Given the description of an element on the screen output the (x, y) to click on. 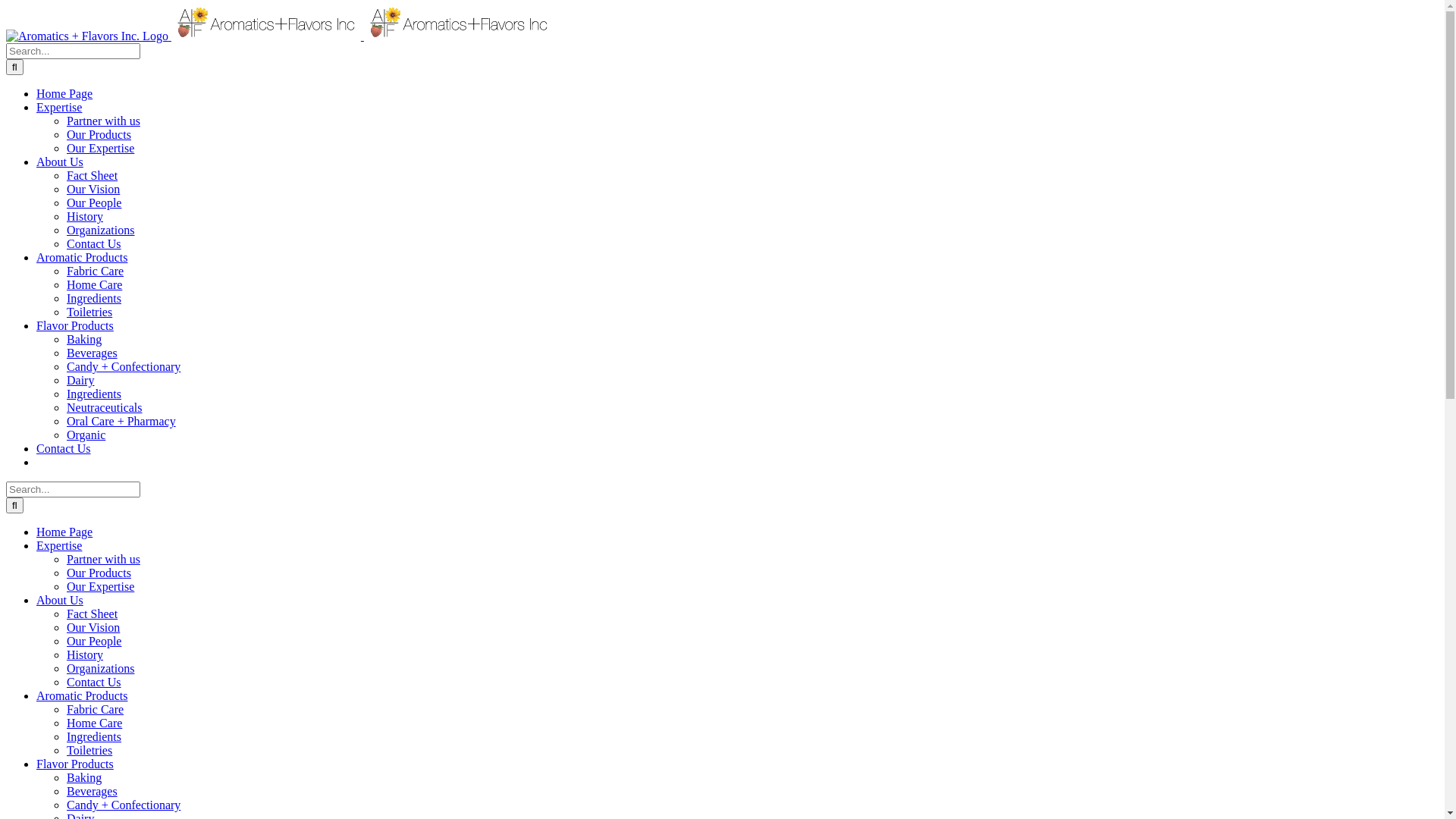
Candy + Confectionary Element type: text (123, 804)
About Us Element type: text (59, 599)
Our Expertise Element type: text (100, 147)
Flavor Products Element type: text (74, 763)
Home Page Element type: text (64, 531)
Expertise Element type: text (58, 545)
Home Page Element type: text (64, 93)
Our Vision Element type: text (92, 188)
Expertise Element type: text (58, 106)
Contact Us Element type: text (93, 681)
Organic Element type: text (85, 434)
Neutraceuticals Element type: text (104, 407)
Candy + Confectionary Element type: text (123, 366)
Our Vision Element type: text (92, 627)
Toiletries Element type: text (89, 311)
Toiletries Element type: text (89, 749)
Baking Element type: text (83, 338)
Partner with us Element type: text (103, 558)
Beverages Element type: text (91, 790)
Fabric Care Element type: text (94, 270)
Contact Us Element type: text (93, 243)
Our Expertise Element type: text (100, 586)
Aromatic Products Element type: text (81, 695)
Our People Element type: text (93, 202)
History Element type: text (84, 216)
Ingredients Element type: text (93, 736)
Organizations Element type: text (100, 668)
Fabric Care Element type: text (94, 708)
Ingredients Element type: text (93, 297)
Fact Sheet Element type: text (91, 175)
History Element type: text (84, 654)
Our People Element type: text (93, 640)
Skip to content Element type: text (5, 5)
Organizations Element type: text (100, 229)
Flavor Products Element type: text (74, 325)
Home Care Element type: text (94, 284)
Fact Sheet Element type: text (91, 613)
Our Products Element type: text (98, 572)
Home Care Element type: text (94, 722)
Aromatic Products Element type: text (81, 257)
Oral Care + Pharmacy Element type: text (120, 420)
Baking Element type: text (83, 777)
Ingredients Element type: text (93, 393)
Beverages Element type: text (91, 352)
Our Products Element type: text (98, 134)
Dairy Element type: text (80, 379)
Contact Us Element type: text (63, 448)
Partner with us Element type: text (103, 120)
About Us Element type: text (59, 161)
